Given the description of an element on the screen output the (x, y) to click on. 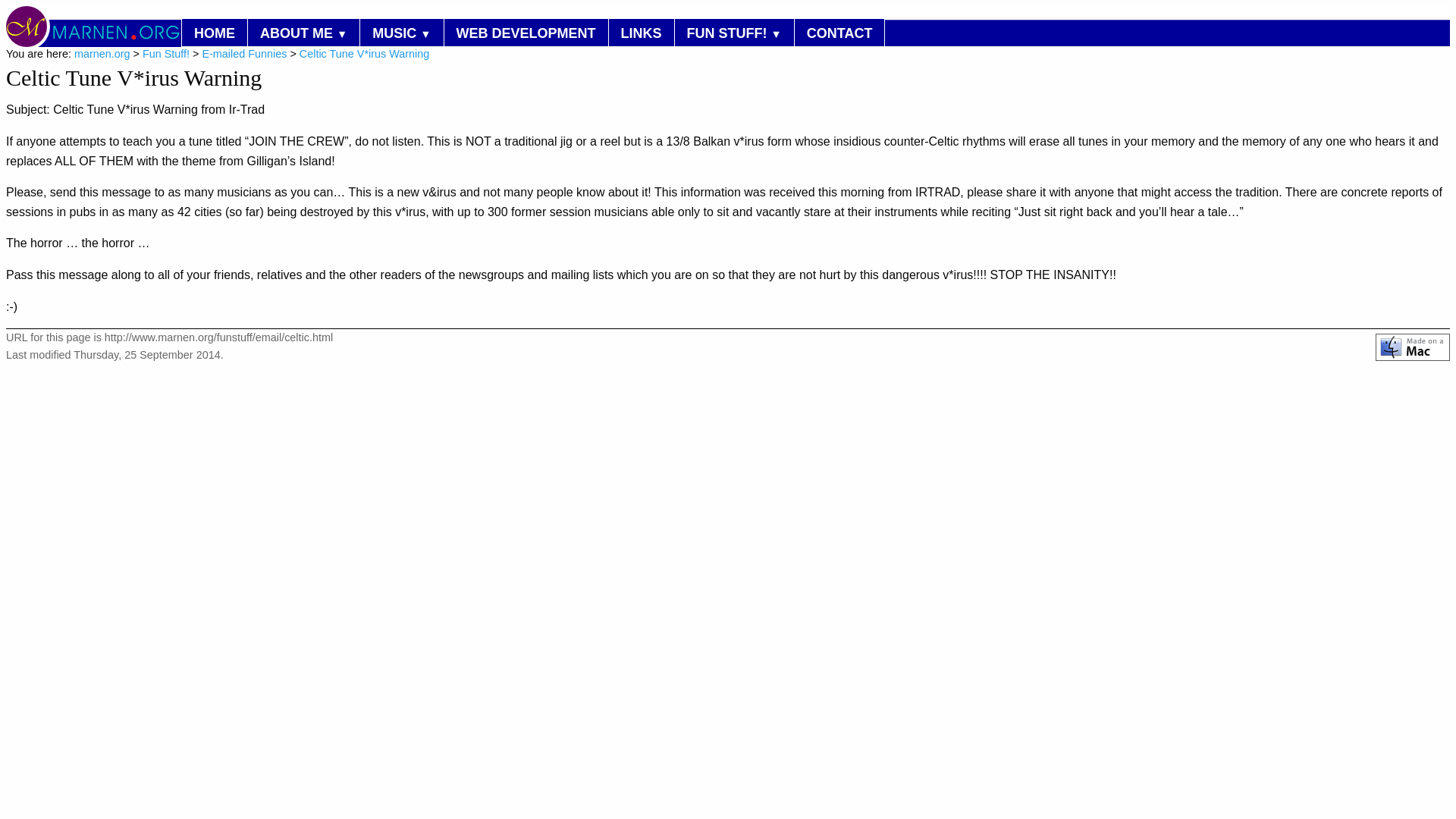
FUN STUFF! (734, 31)
marnen.org (102, 53)
ABOUT ME (303, 31)
HOME (214, 31)
Fun Stuff! (165, 53)
E-mailed Funnies (244, 53)
MUSIC (400, 31)
LINKS (641, 31)
CONTACT (839, 31)
WEB DEVELOPMENT (526, 31)
